Given the description of an element on the screen output the (x, y) to click on. 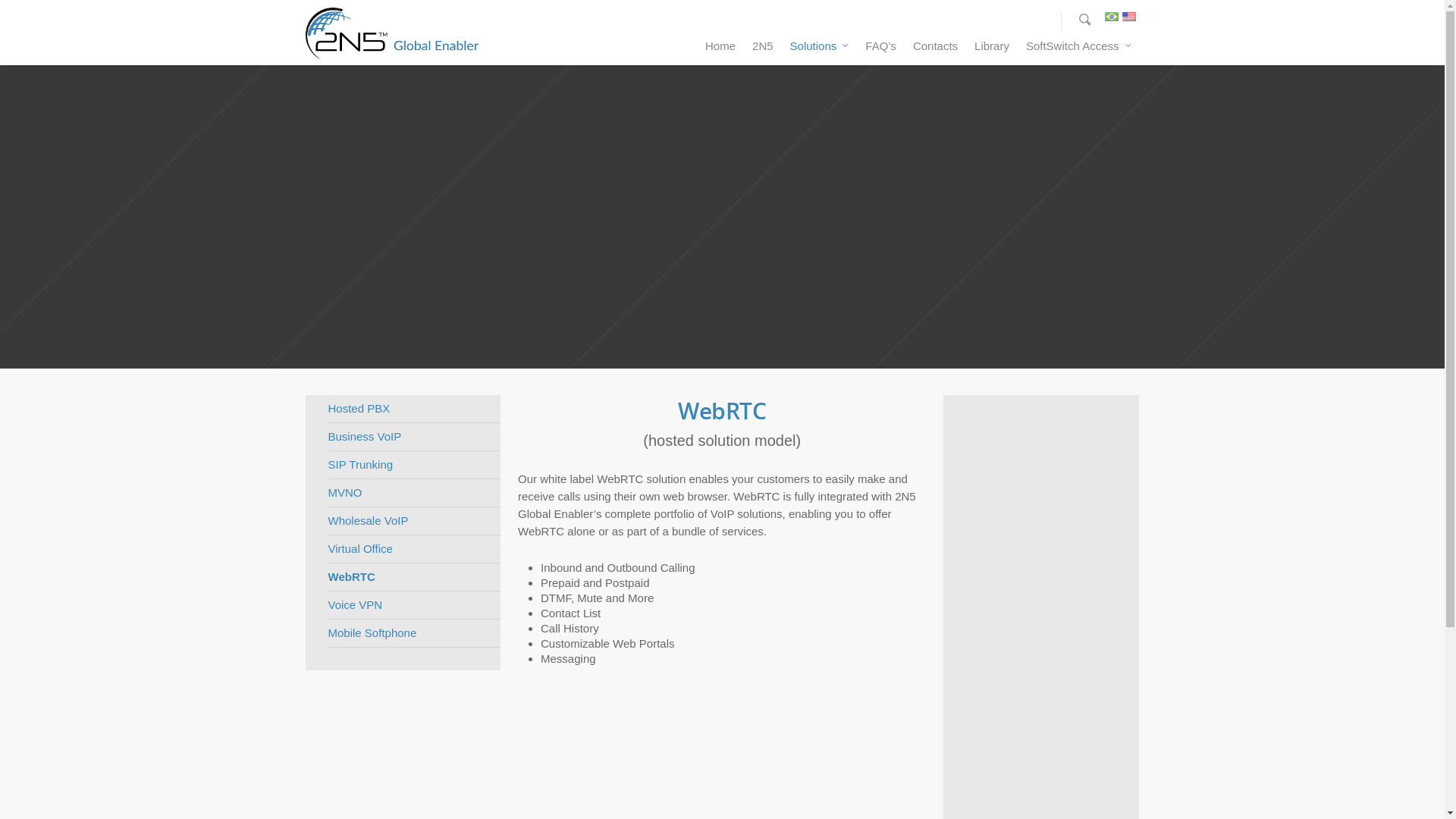
MVNO Element type: text (413, 493)
Library Element type: text (991, 49)
English (en) Element type: hover (1128, 20)
Virtual Office Element type: text (413, 549)
2N5 Element type: text (762, 49)
Wholesale VoIP Element type: text (413, 521)
Mobile Softphone Element type: text (413, 633)
Voice VPN Element type: text (413, 605)
Home Element type: text (720, 49)
Solutions Element type: text (819, 49)
SIP Trunking Element type: text (413, 465)
Contacts Element type: text (935, 49)
Business VoIP Element type: text (413, 437)
SoftSwitch Access Element type: text (1078, 49)
Hosted PBX Element type: text (413, 409)
WebRTC Element type: text (413, 577)
